Given the description of an element on the screen output the (x, y) to click on. 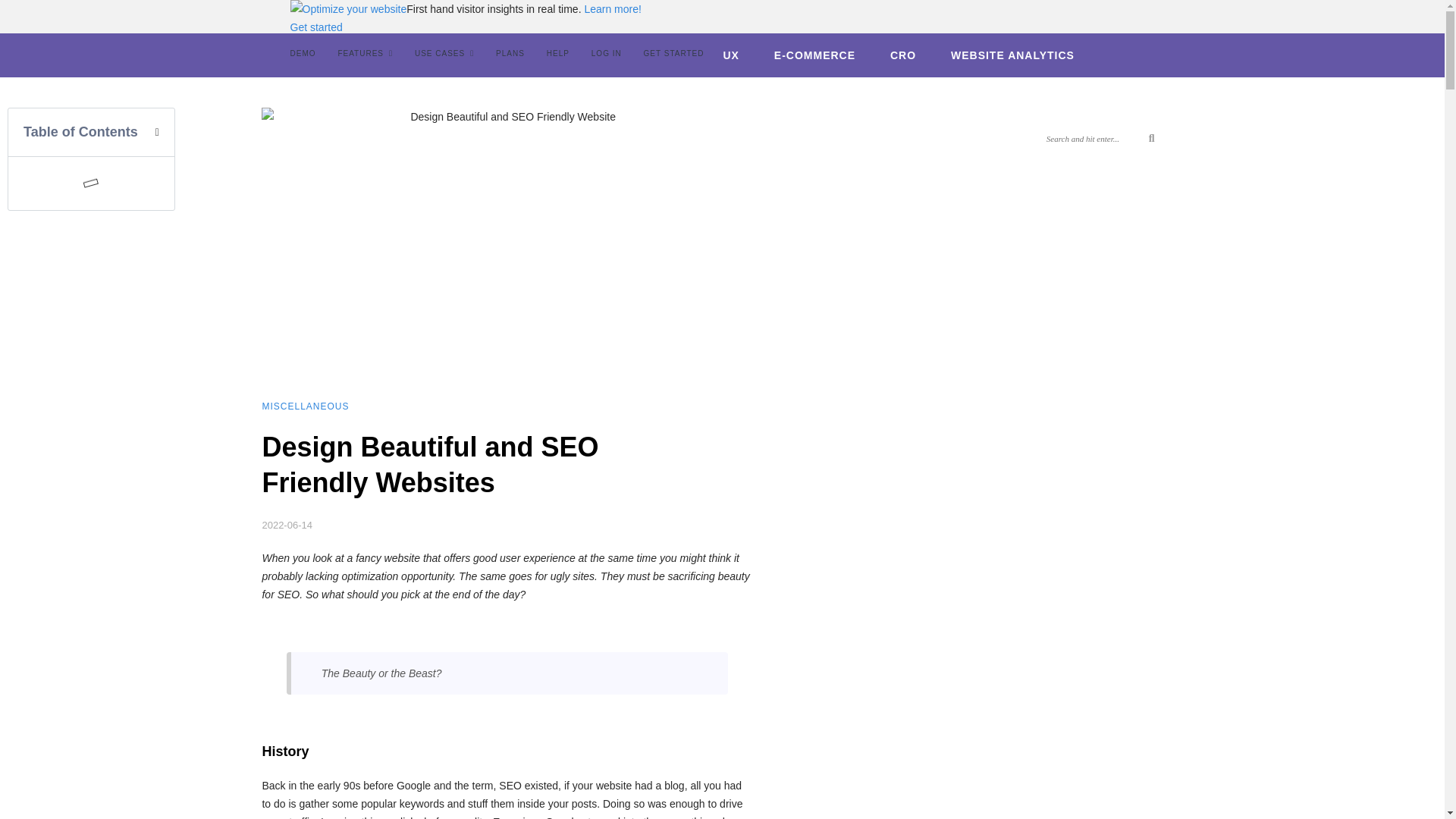
E-COMMERCE (815, 54)
LOG IN (606, 53)
Learn more! (611, 9)
GET STARTED (673, 53)
USE CASES (444, 53)
WEBSITE ANALYTICS (1012, 54)
MISCELLANEOUS (305, 406)
Get started (315, 27)
FEATURES (365, 53)
